Given the description of an element on the screen output the (x, y) to click on. 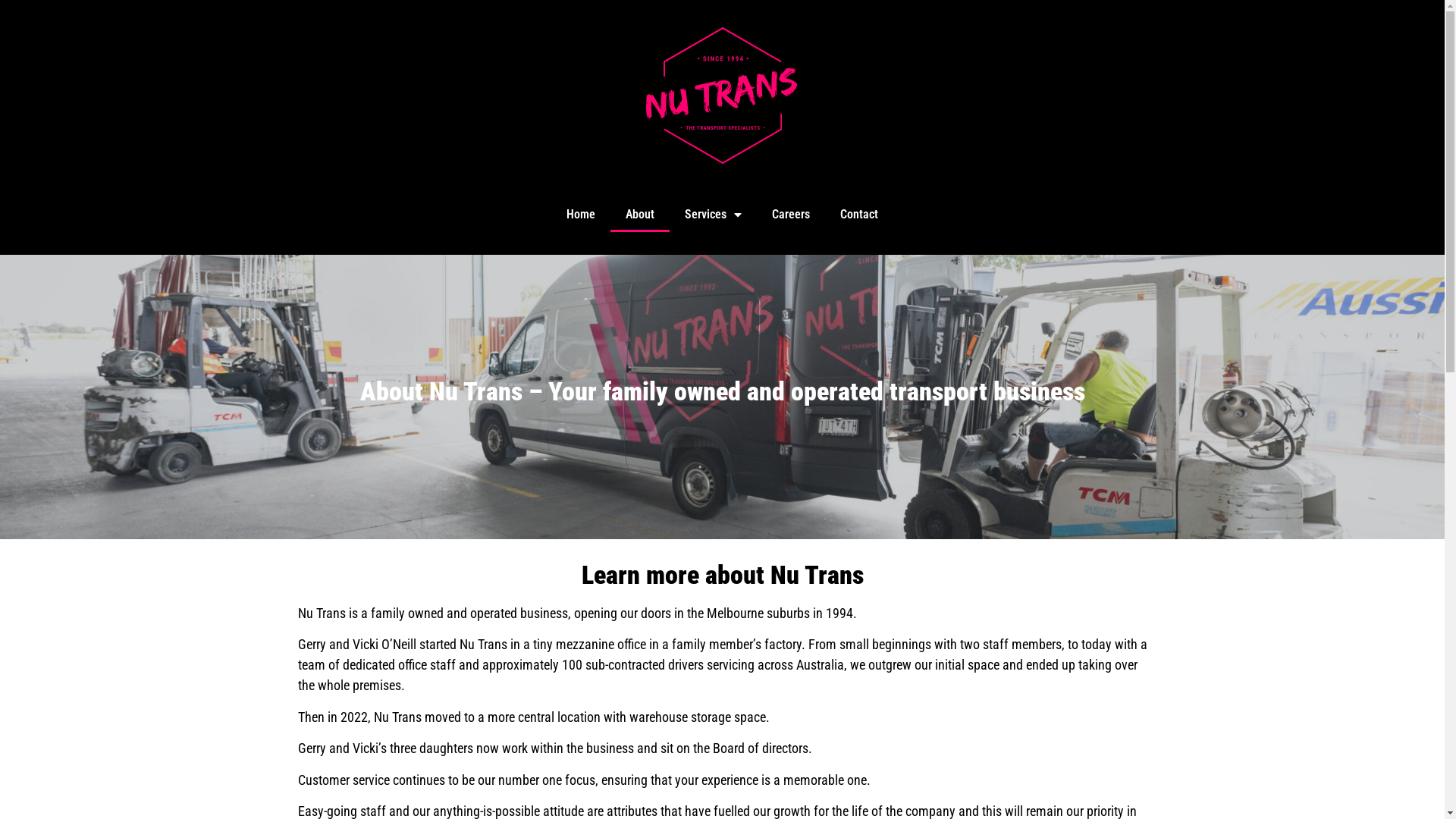
Services Element type: text (712, 214)
Contact Element type: text (859, 214)
About Element type: text (639, 214)
Home Element type: text (580, 214)
Careers Element type: text (790, 214)
